Given the description of an element on the screen output the (x, y) to click on. 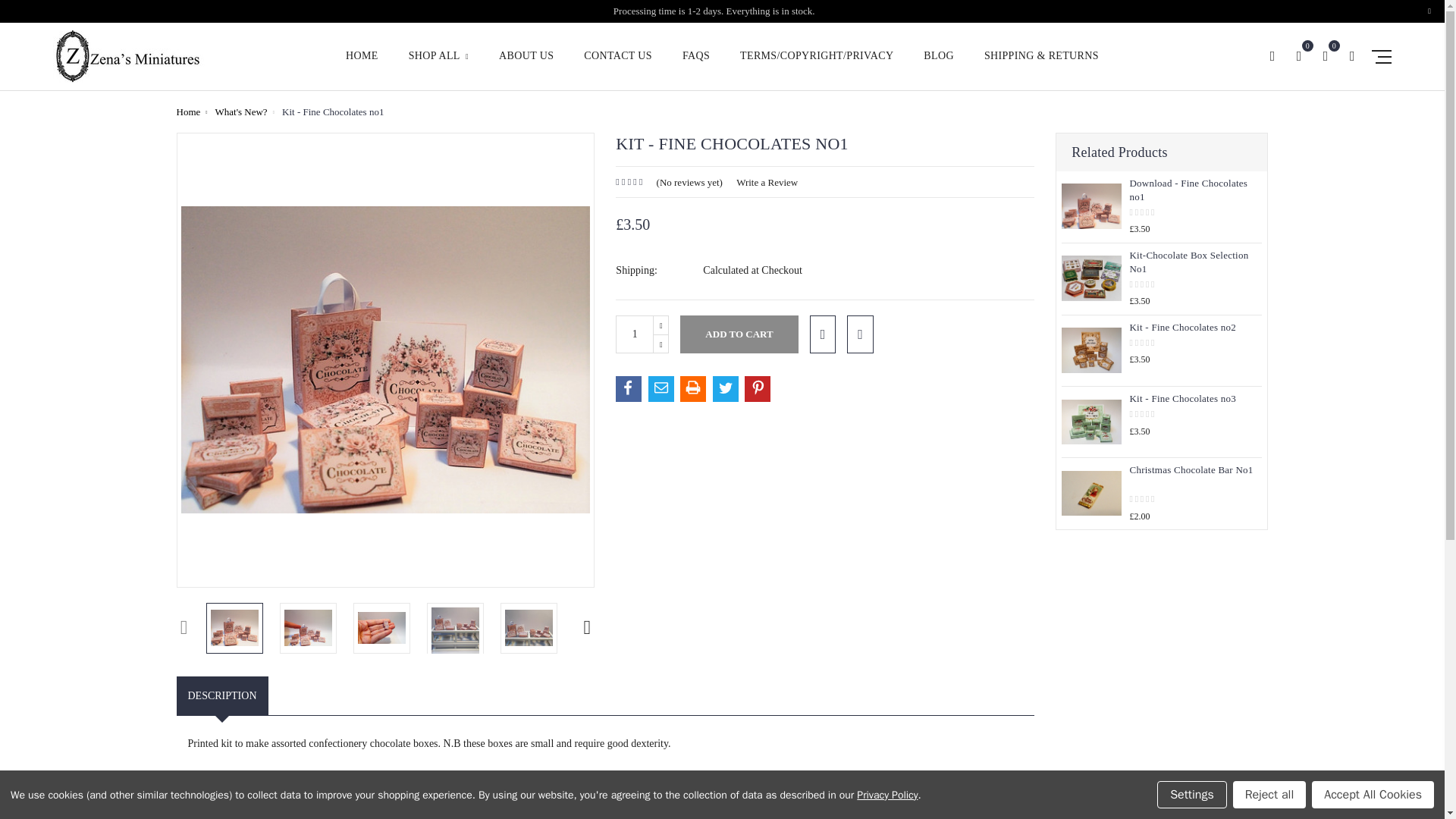
Kit - Fine Chocolates no1 (454, 630)
Kit - Fine Chocolates no2 (1091, 350)
Add to Cart (738, 333)
1 (634, 333)
Download - Fine Chocolates no1 (1091, 206)
SHOP ALL (438, 65)
Kit - Fine Chocolates no1 (382, 627)
HOME (362, 65)
Kit - Fine Chocolates no1 (384, 359)
Christmas Chocolate Bar No1 (1091, 492)
Kit-Chocolate Box Selection No1 (1091, 278)
Kit - Fine Chocolates no3 (1091, 421)
Kit - Fine Chocolates no1 (529, 627)
Kit - Fine Chocolates no1 (307, 627)
Kit - Fine Chocolates no1 (235, 627)
